Given the description of an element on the screen output the (x, y) to click on. 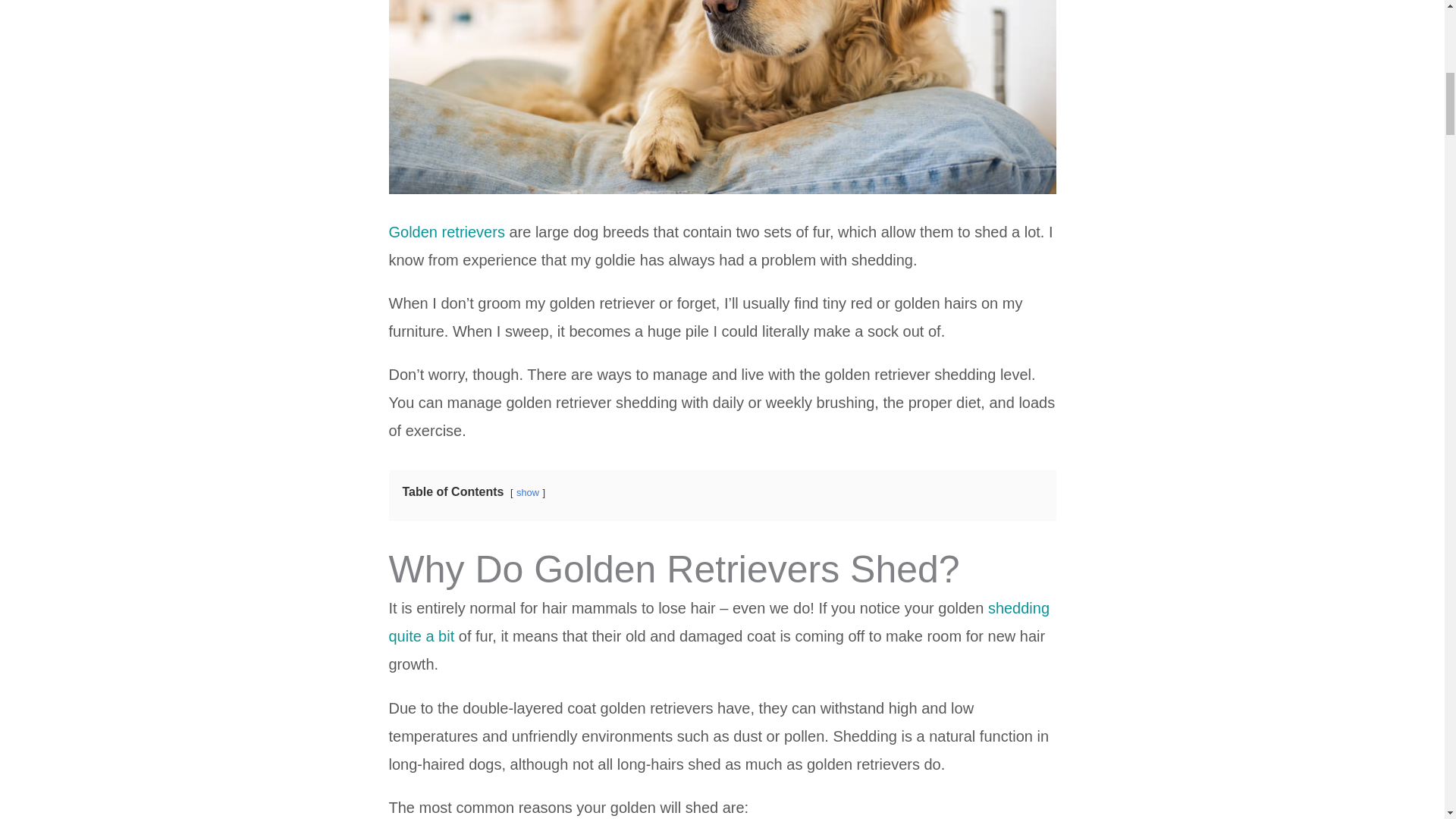
show (527, 491)
Golden retrievers (445, 231)
